Given the description of an element on the screen output the (x, y) to click on. 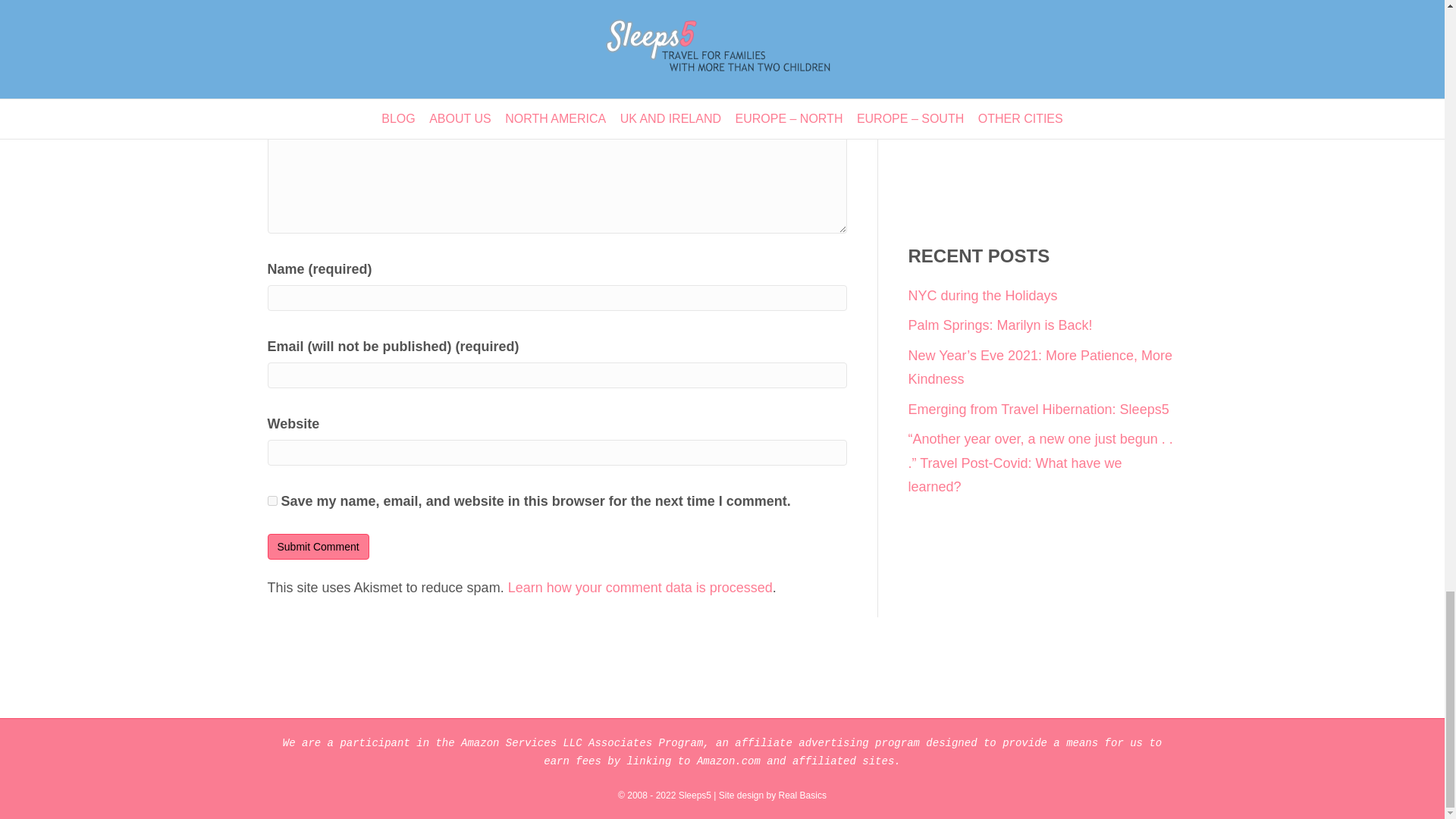
Submit Comment (317, 546)
yes (271, 501)
